Given the description of an element on the screen output the (x, y) to click on. 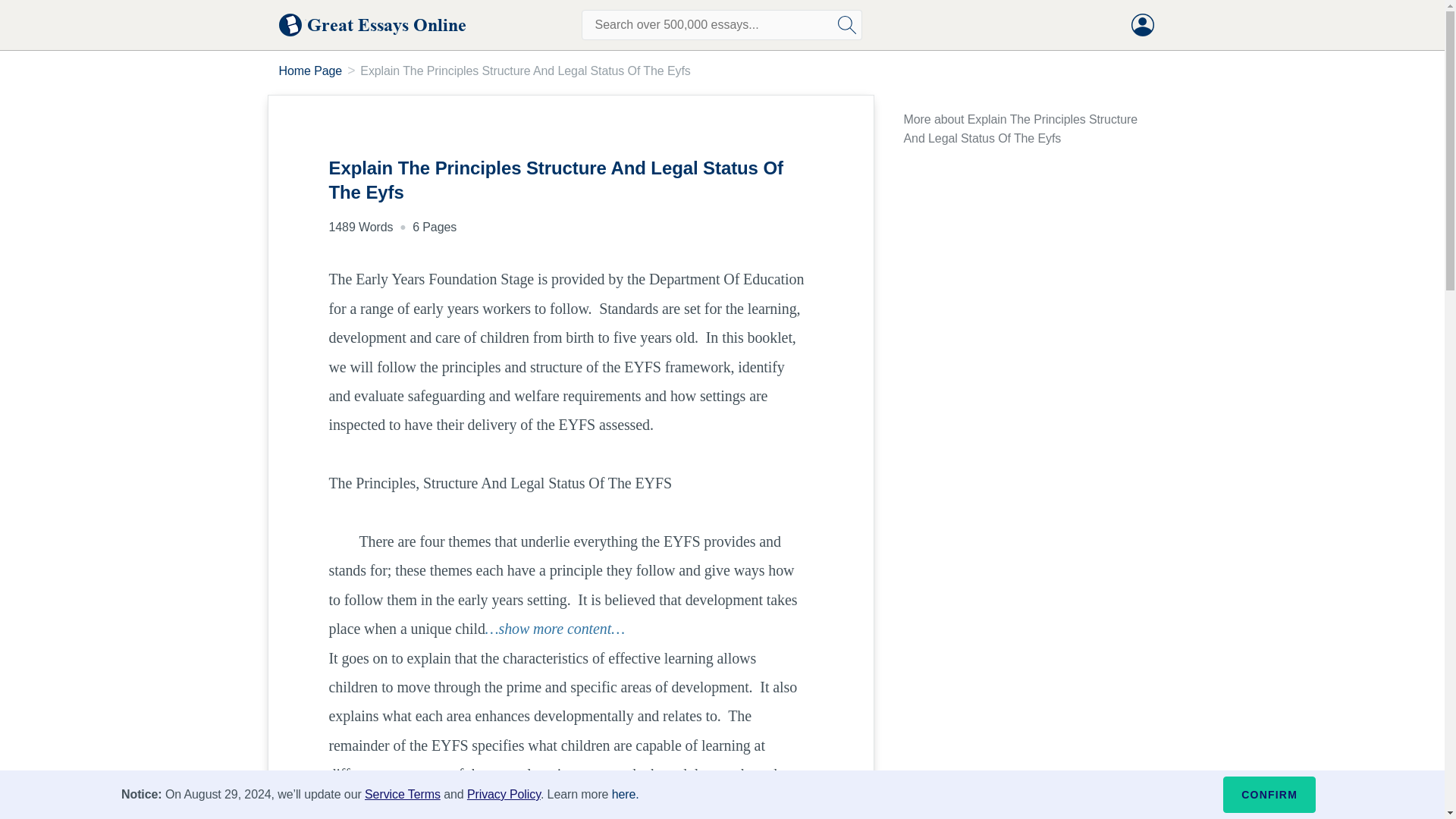
Service Terms (403, 793)
Privacy Policy (503, 793)
here. (625, 793)
Home Page (310, 70)
CONFIRM (1269, 794)
